Given the description of an element on the screen output the (x, y) to click on. 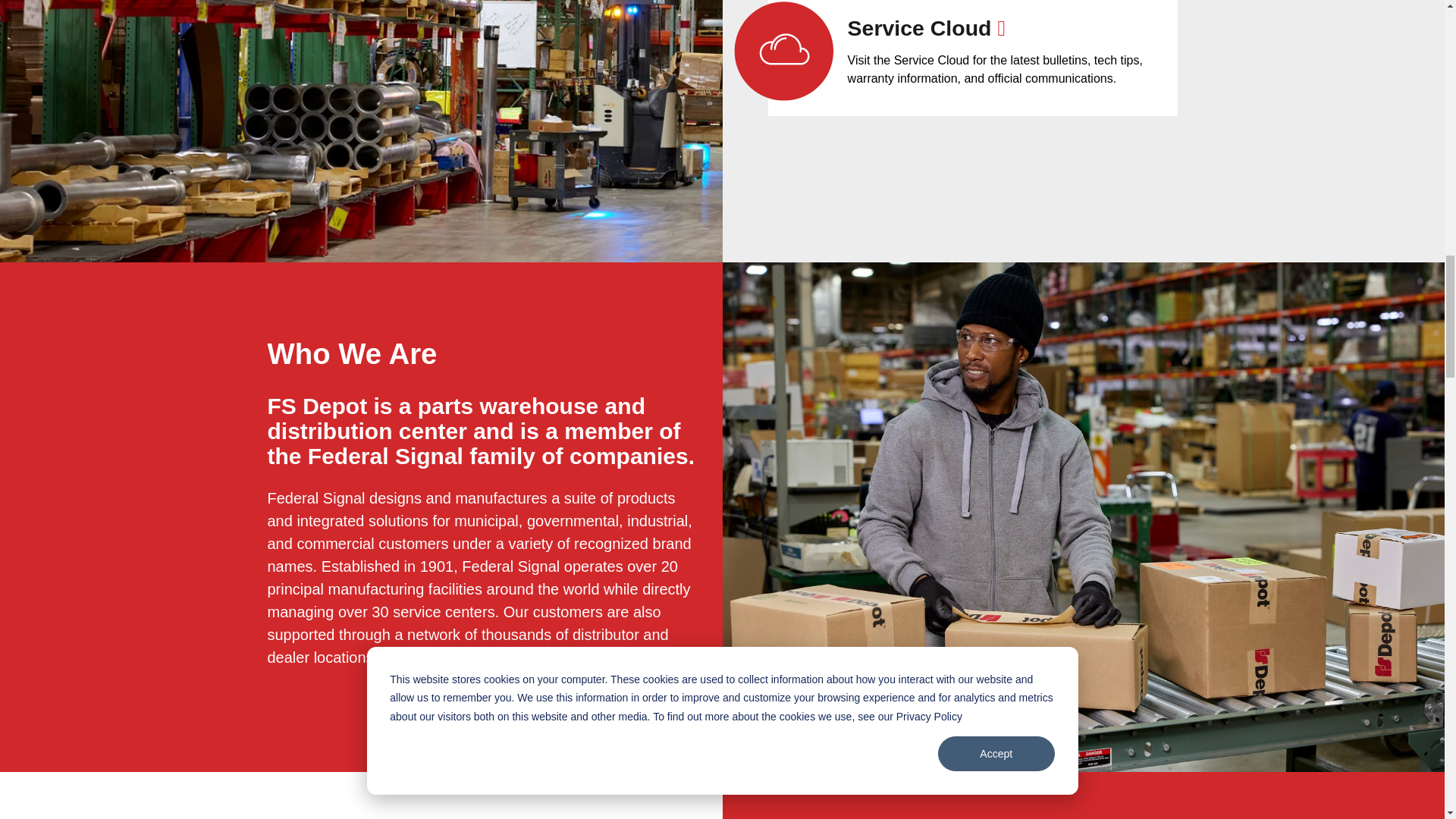
Service Cloud (926, 27)
service-cloud (782, 50)
